Given the description of an element on the screen output the (x, y) to click on. 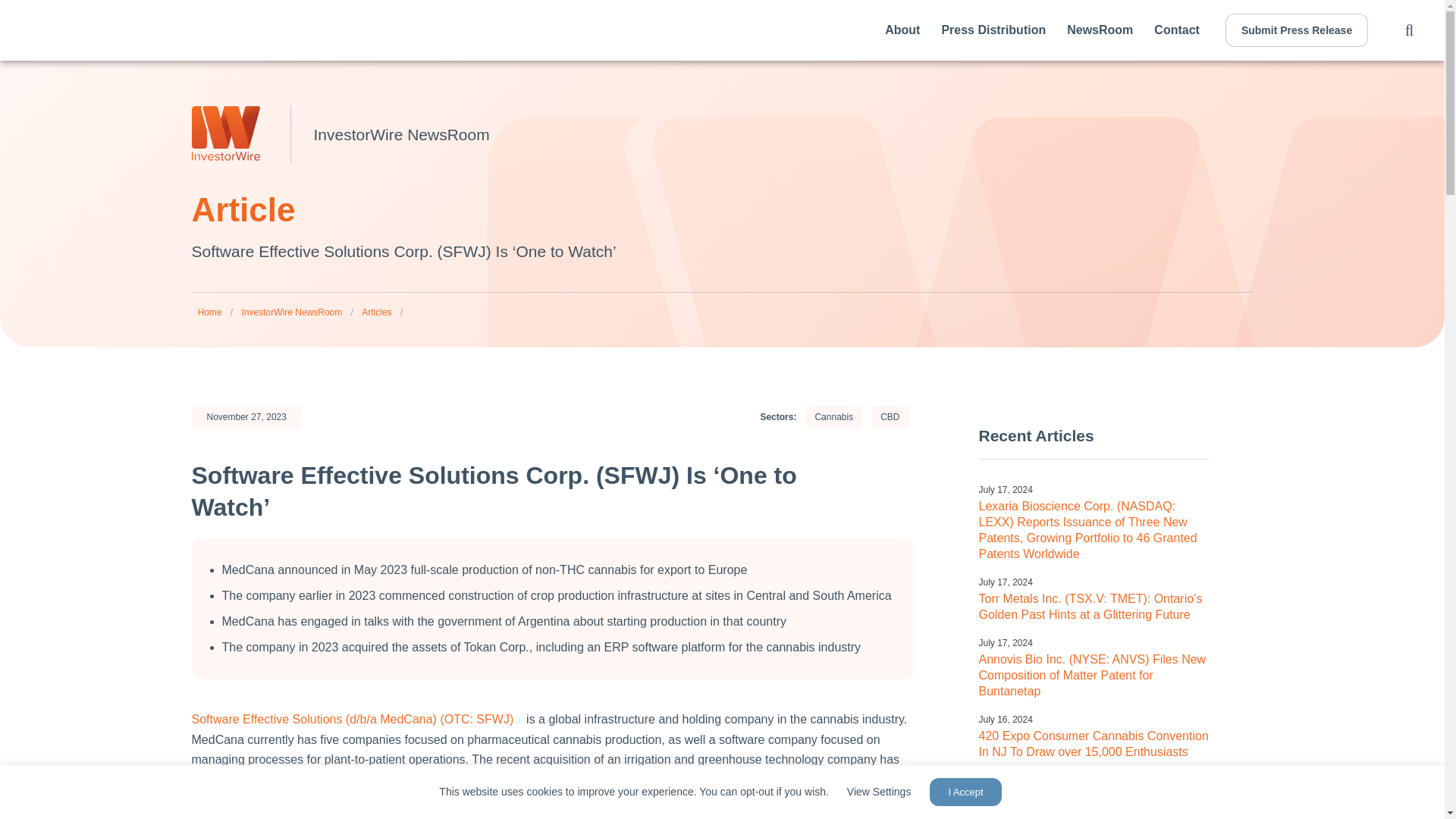
Submit Press Release (1296, 29)
NewsRoom (1099, 29)
Cannabis (833, 416)
Contact (1177, 29)
InvestorWire NewsRoom (291, 312)
CBD (889, 416)
Home (208, 312)
About (902, 29)
View all articles in Cannabis (833, 416)
View all articles in CBD (889, 416)
Press Distribution (992, 29)
Articles (376, 312)
